Given the description of an element on the screen output the (x, y) to click on. 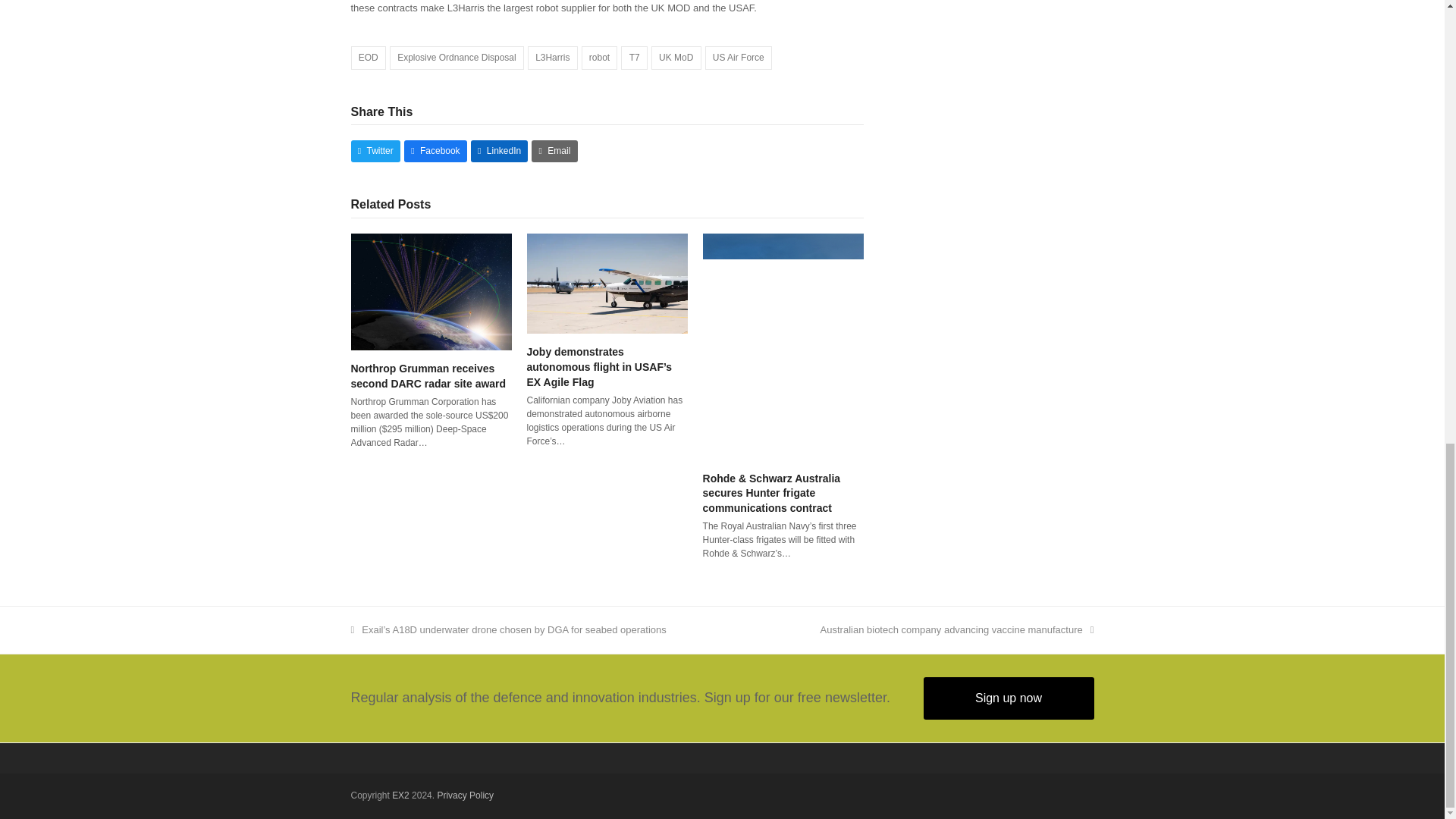
Facebook (435, 151)
Northrop Grumman receives second DARC radar site award (427, 375)
Twitter (375, 151)
Explosive Ordnance Disposal (457, 57)
Email (553, 151)
LinkedIn (499, 151)
robot (598, 57)
US Air Force (737, 57)
UK MoD (675, 57)
L3Harris (552, 57)
